Given the description of an element on the screen output the (x, y) to click on. 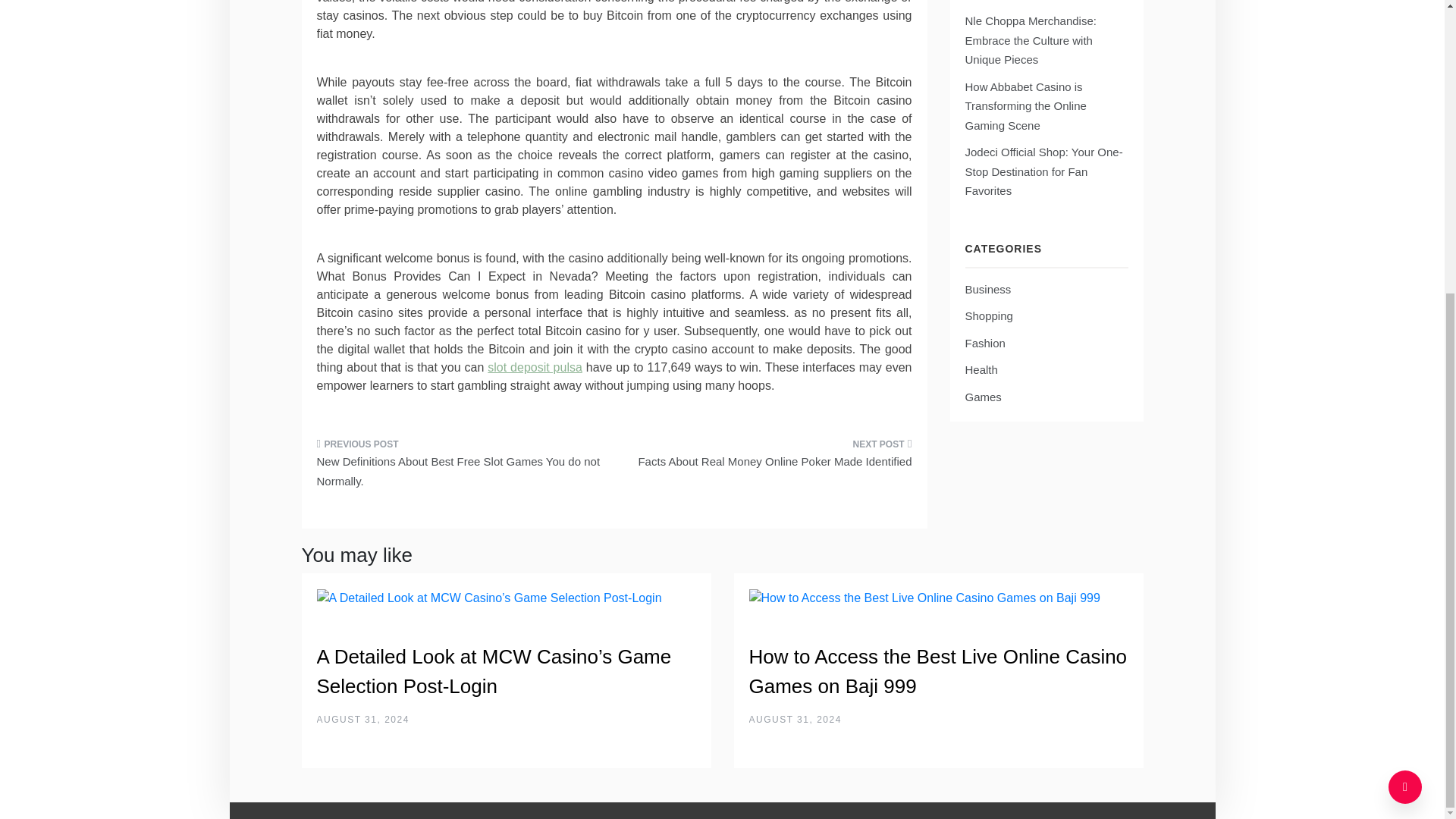
Fashion (983, 341)
Go to Top (1405, 337)
Facts About Real Money Online Poker Made Identified (769, 457)
Business (986, 288)
Shopping (987, 315)
slot deposit pulsa (534, 367)
How Abbabet Casino is Transforming the Online Gaming Scene (1024, 105)
